Given the description of an element on the screen output the (x, y) to click on. 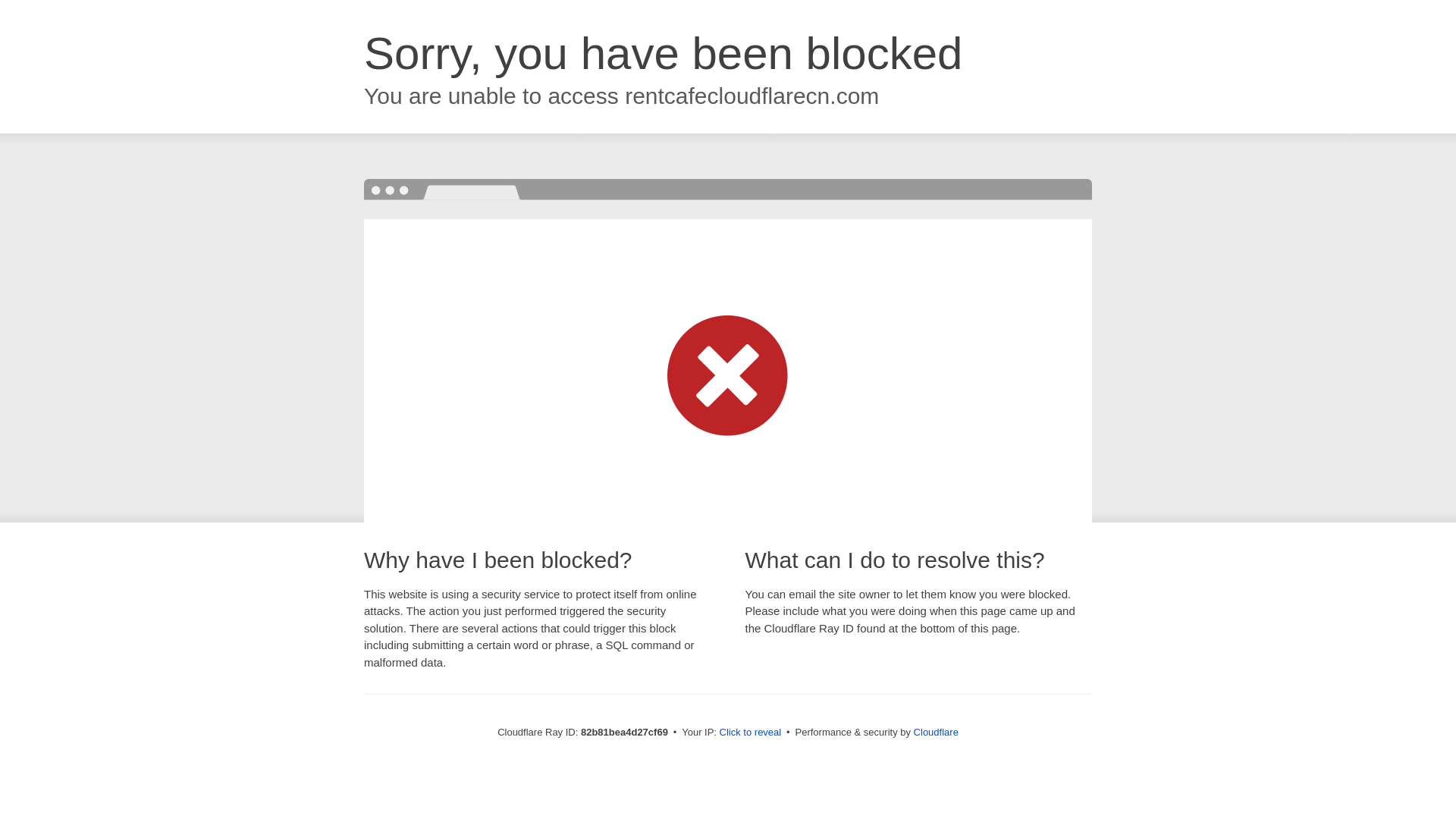
Cloudflare Element type: text (935, 731)
Click to reveal Element type: text (750, 732)
